Given the description of an element on the screen output the (x, y) to click on. 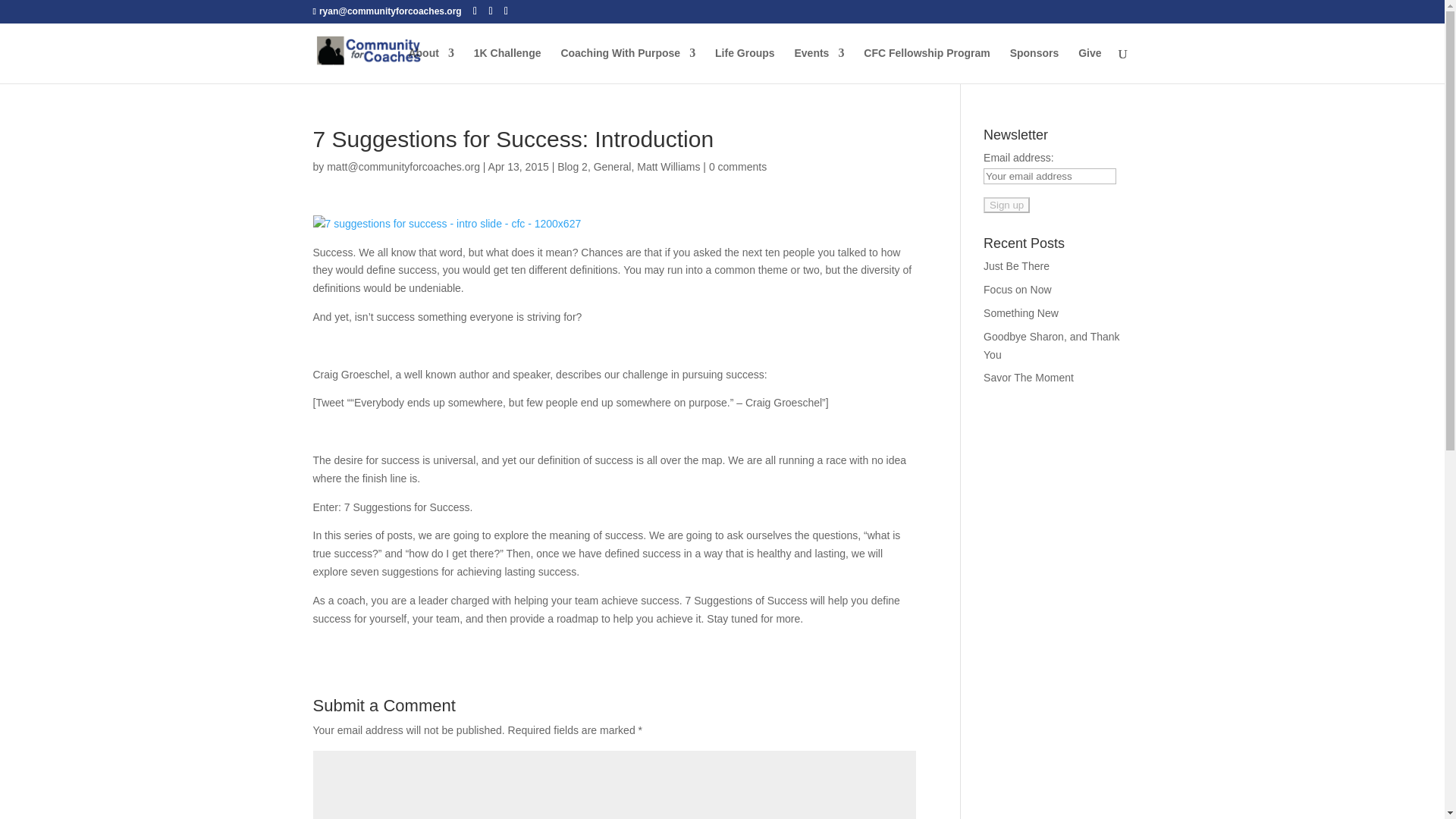
About (429, 65)
Sponsors (1034, 65)
Coaching With Purpose (627, 65)
Events (819, 65)
Life Groups (744, 65)
CFC Fellowship Program (926, 65)
Sign up (1006, 204)
1K Challenge (507, 65)
